Given the description of an element on the screen output the (x, y) to click on. 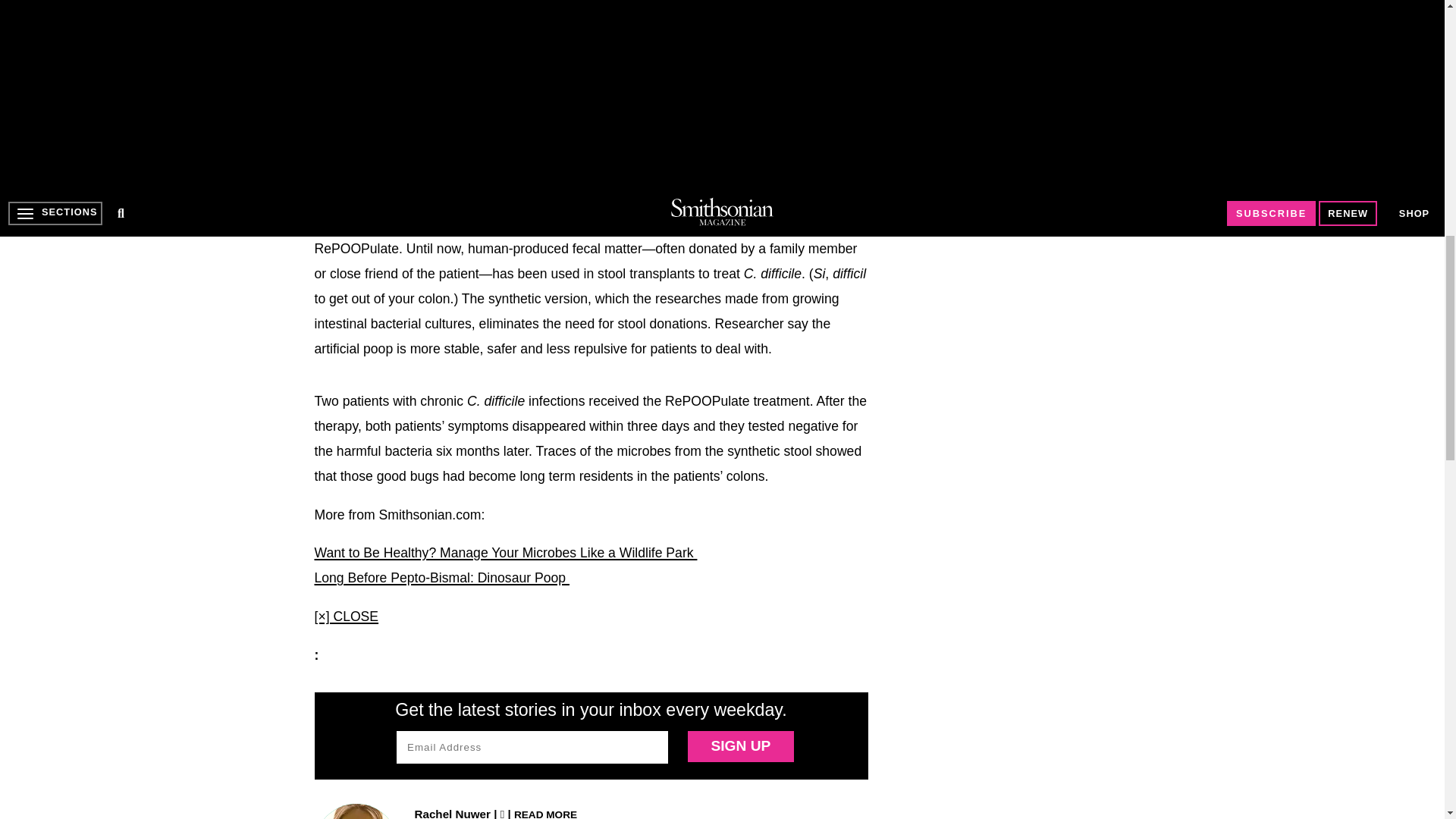
poop (535, 31)
Read more from this author (544, 813)
Sign Up (740, 746)
